Given the description of an element on the screen output the (x, y) to click on. 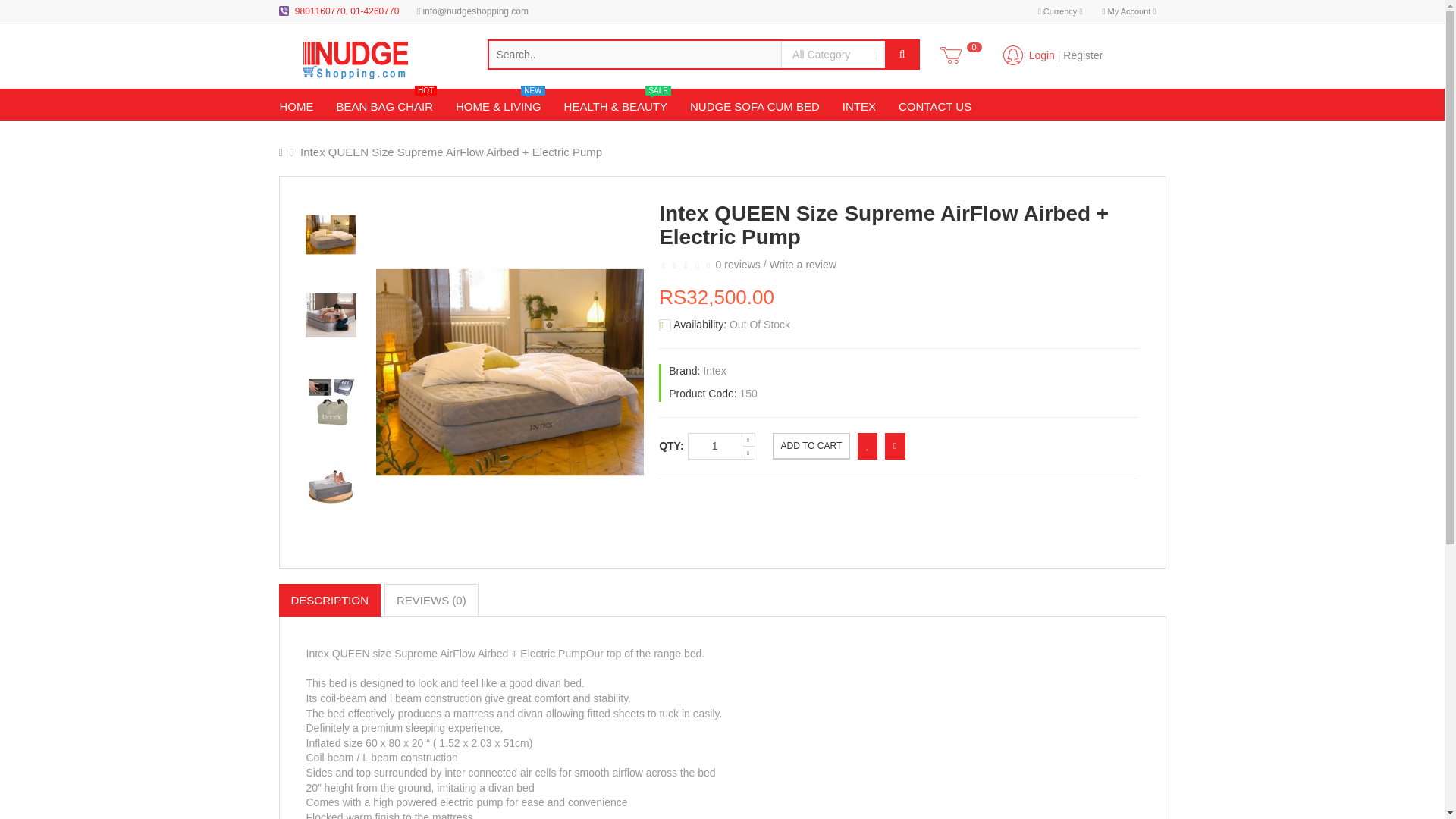
1 (714, 446)
CONTACT US (934, 107)
Currency (1060, 11)
INTEX (858, 107)
My Account (384, 107)
Intex (1128, 11)
Nudge Shopping (714, 370)
Register (382, 59)
Write a review (1082, 55)
0 reviews (801, 264)
Login (738, 264)
HOME (1041, 55)
NUDGE SOFA CUM BED (295, 107)
My Account (754, 107)
